Given the description of an element on the screen output the (x, y) to click on. 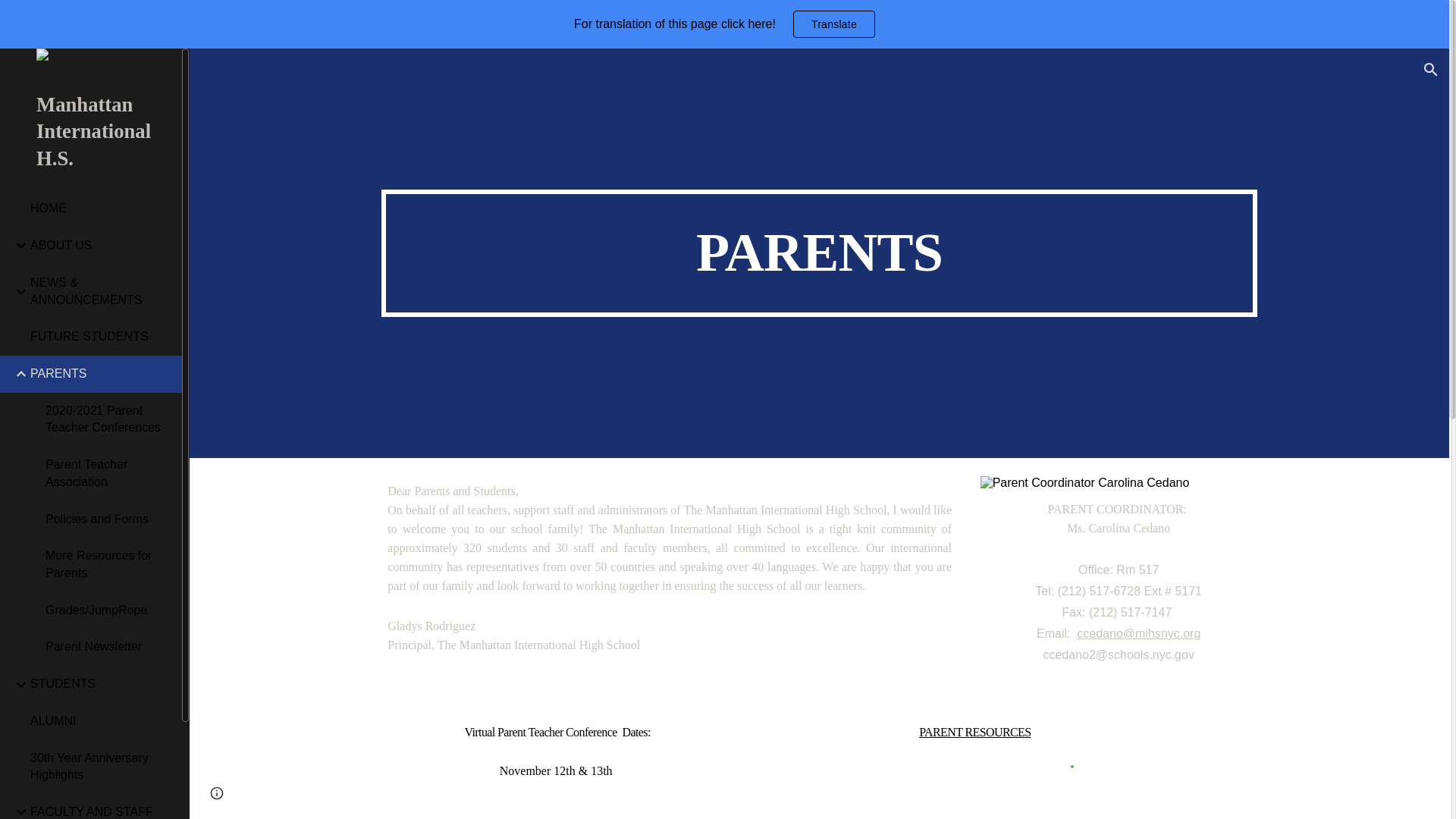
PARENTS (100, 374)
Translate (834, 23)
Custom embed (1081, 813)
ABOUT US (100, 245)
2020-2021 Parent Teacher Conferences (107, 419)
Custom embed (1081, 768)
More Resources for Parents (107, 564)
HOME (100, 208)
Policies and Forms (107, 519)
STUDENTS (100, 683)
Parent Newsletter (107, 646)
Translate (834, 23)
Manhattan International H.S. (91, 135)
FUTURE STUDENTS (100, 336)
Parent Teacher Association (107, 473)
